Given the description of an element on the screen output the (x, y) to click on. 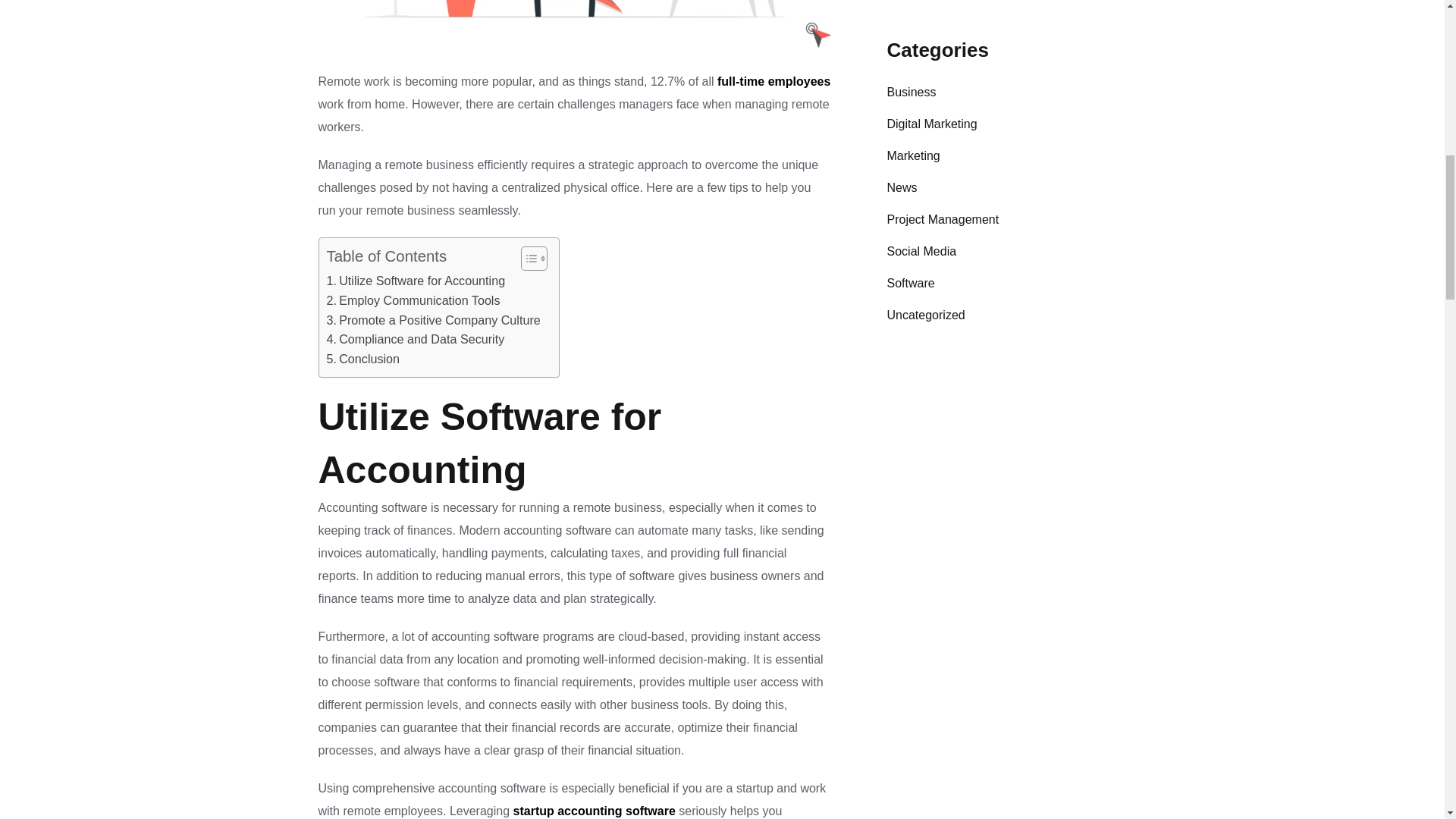
Utilize Software for Accounting (415, 281)
startup accounting software (594, 809)
Marketing (913, 156)
Social Media (921, 251)
Digital Marketing (931, 124)
Employ Communication Tools (412, 301)
Business (911, 92)
full-time employees (773, 81)
Promote a Positive Company Culture  (434, 320)
Compliance and Data Security (414, 339)
Conclusion (362, 359)
Compliance and Data Security (414, 339)
News (901, 187)
Conclusion (362, 359)
